Given the description of an element on the screen output the (x, y) to click on. 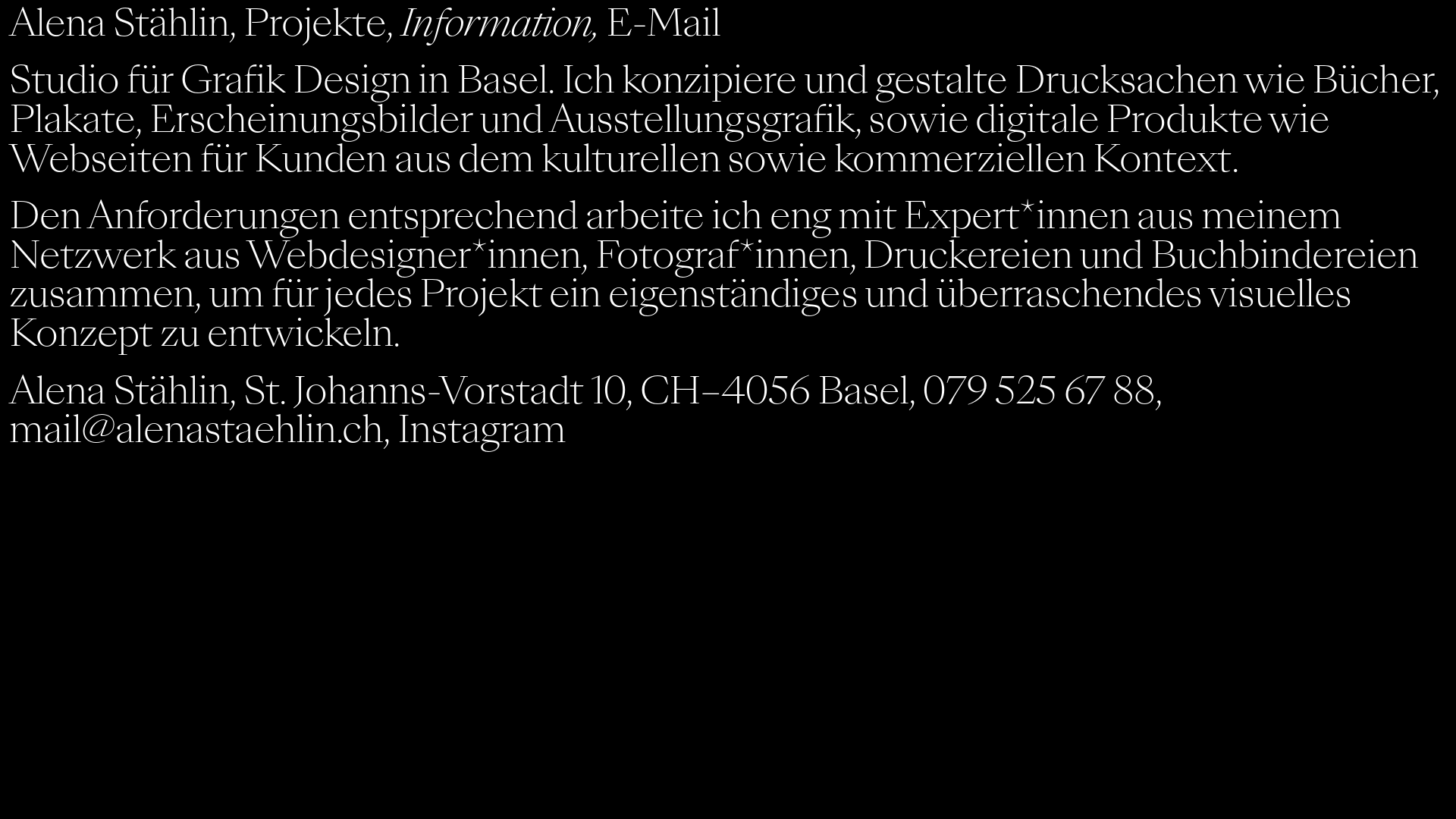
Instagram Element type: text (481, 428)
mail@alenastaehlin.ch Element type: text (195, 428)
